Given the description of an element on the screen output the (x, y) to click on. 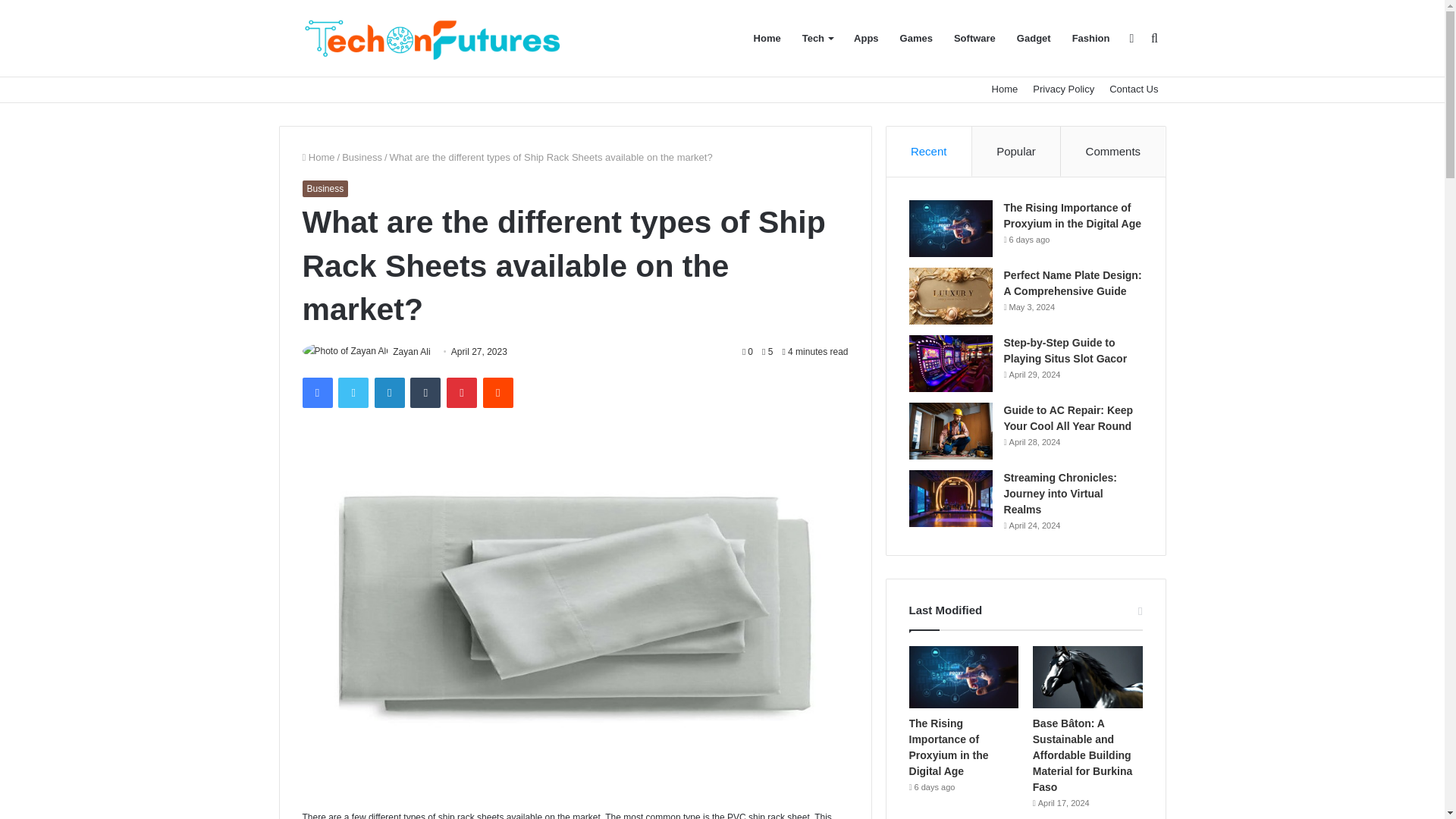
TechonFutures (432, 38)
Home (1005, 89)
Business (324, 188)
Privacy Policy (1063, 89)
Tumblr (425, 392)
Contact Us (1134, 89)
Business (361, 156)
LinkedIn (389, 392)
LinkedIn (389, 392)
Reddit (498, 392)
Facebook (316, 392)
Facebook (316, 392)
Pinterest (461, 392)
Home (317, 156)
Reddit (498, 392)
